Given the description of an element on the screen output the (x, y) to click on. 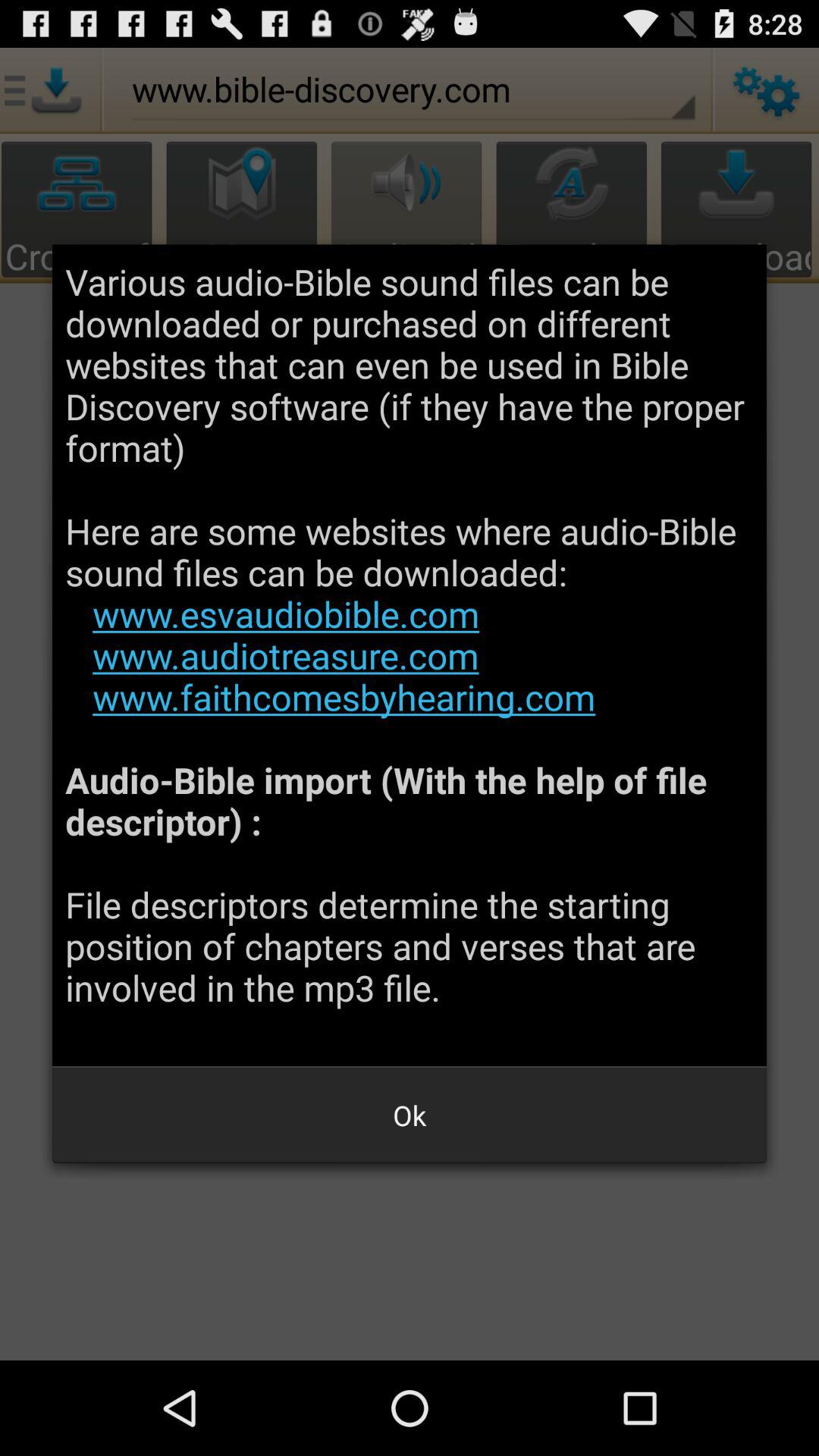
select button above the ok button (409, 655)
